Given the description of an element on the screen output the (x, y) to click on. 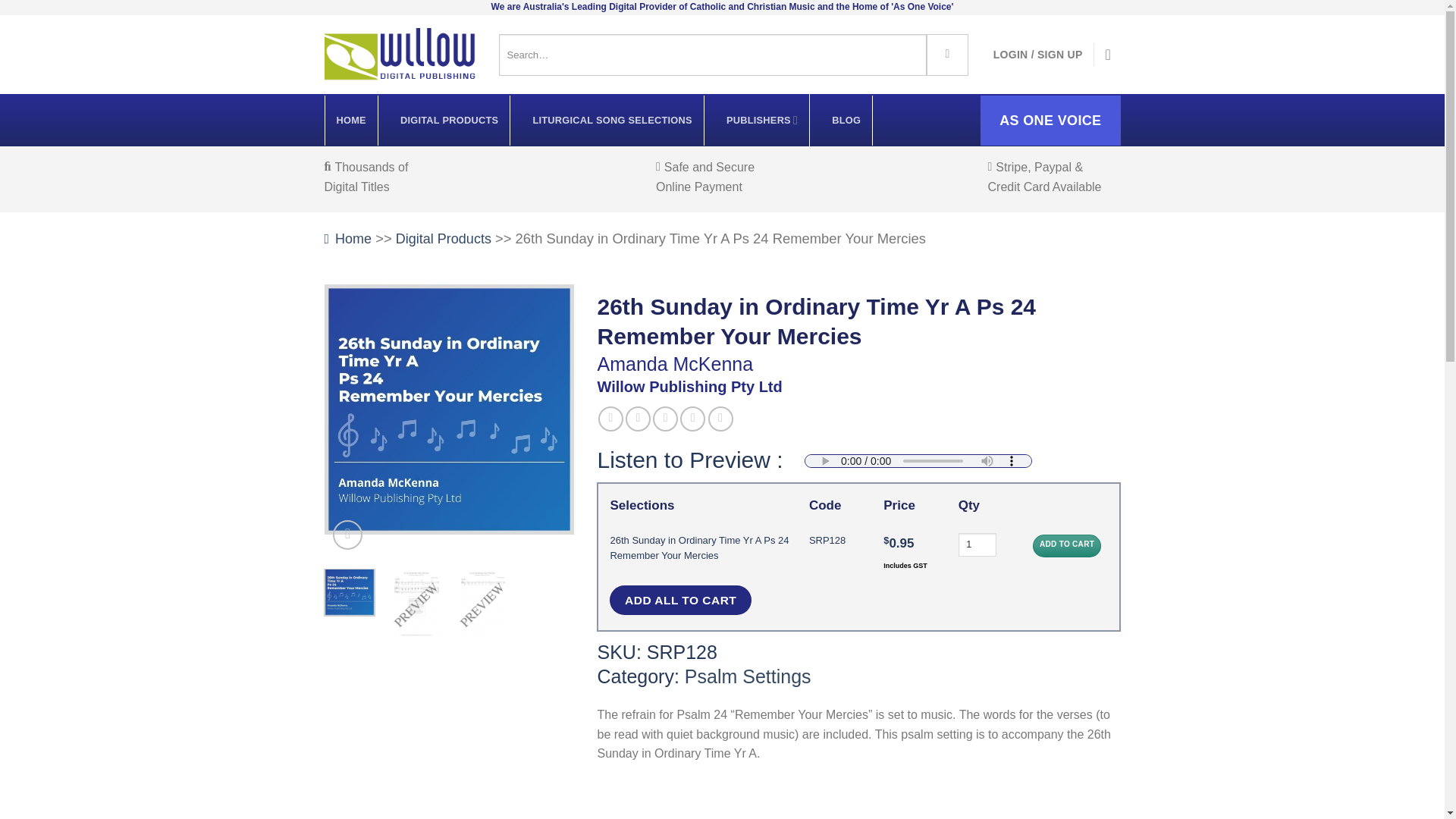
1 (976, 545)
HOME (351, 120)
DIGITAL PRODUCTS (448, 120)
Search (947, 54)
PUBLISHERS (761, 120)
BLOG (845, 120)
LITURGICAL SONG SELECTIONS (611, 120)
ADD ALL TO CART (680, 600)
ADD TO CART (1066, 545)
Psalm Settings (747, 676)
AS ONE VOICE (1049, 120)
Digital Products (444, 238)
Home (348, 238)
